Given the description of an element on the screen output the (x, y) to click on. 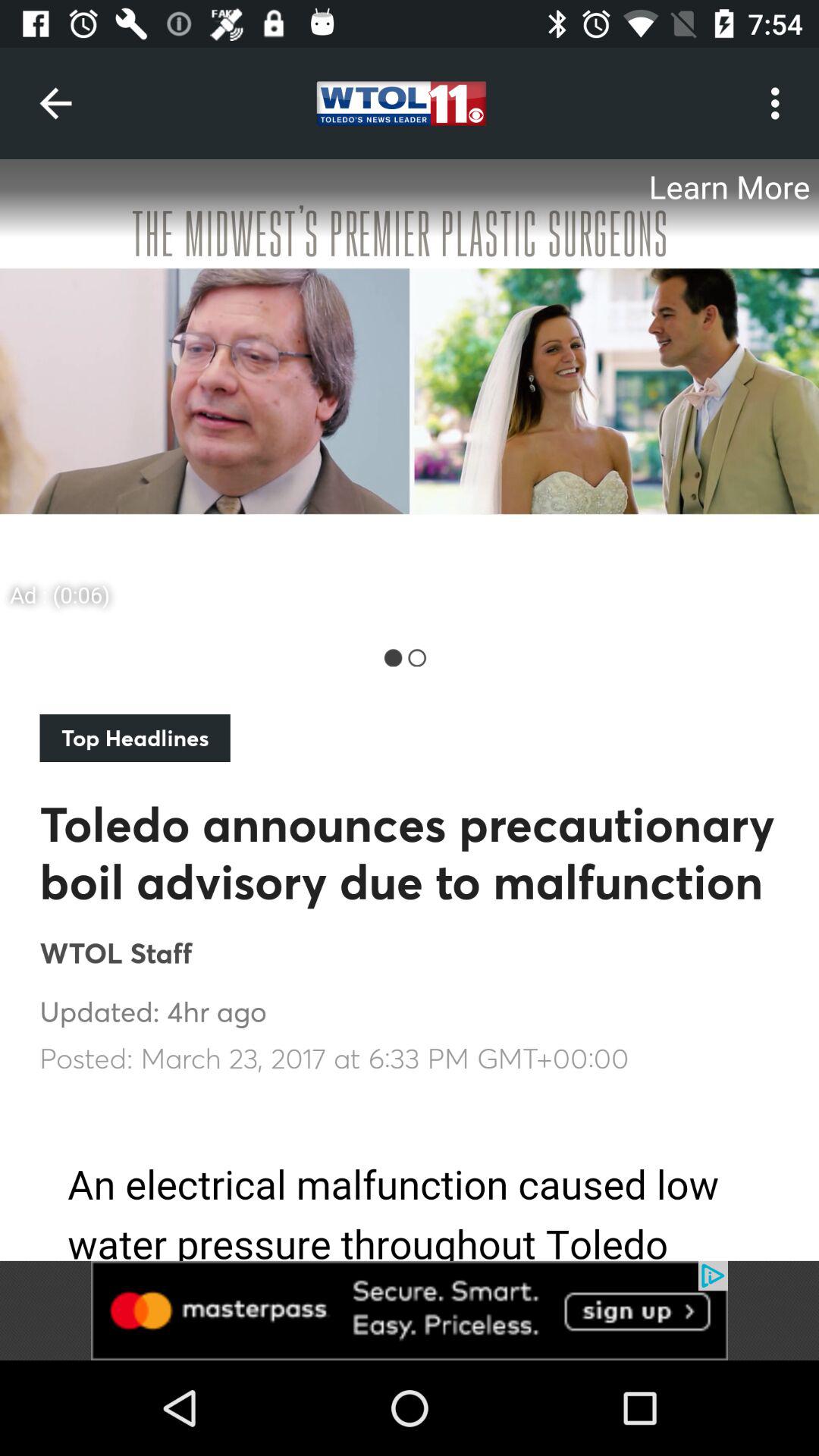
go to advertisement (409, 1310)
